Given the description of an element on the screen output the (x, y) to click on. 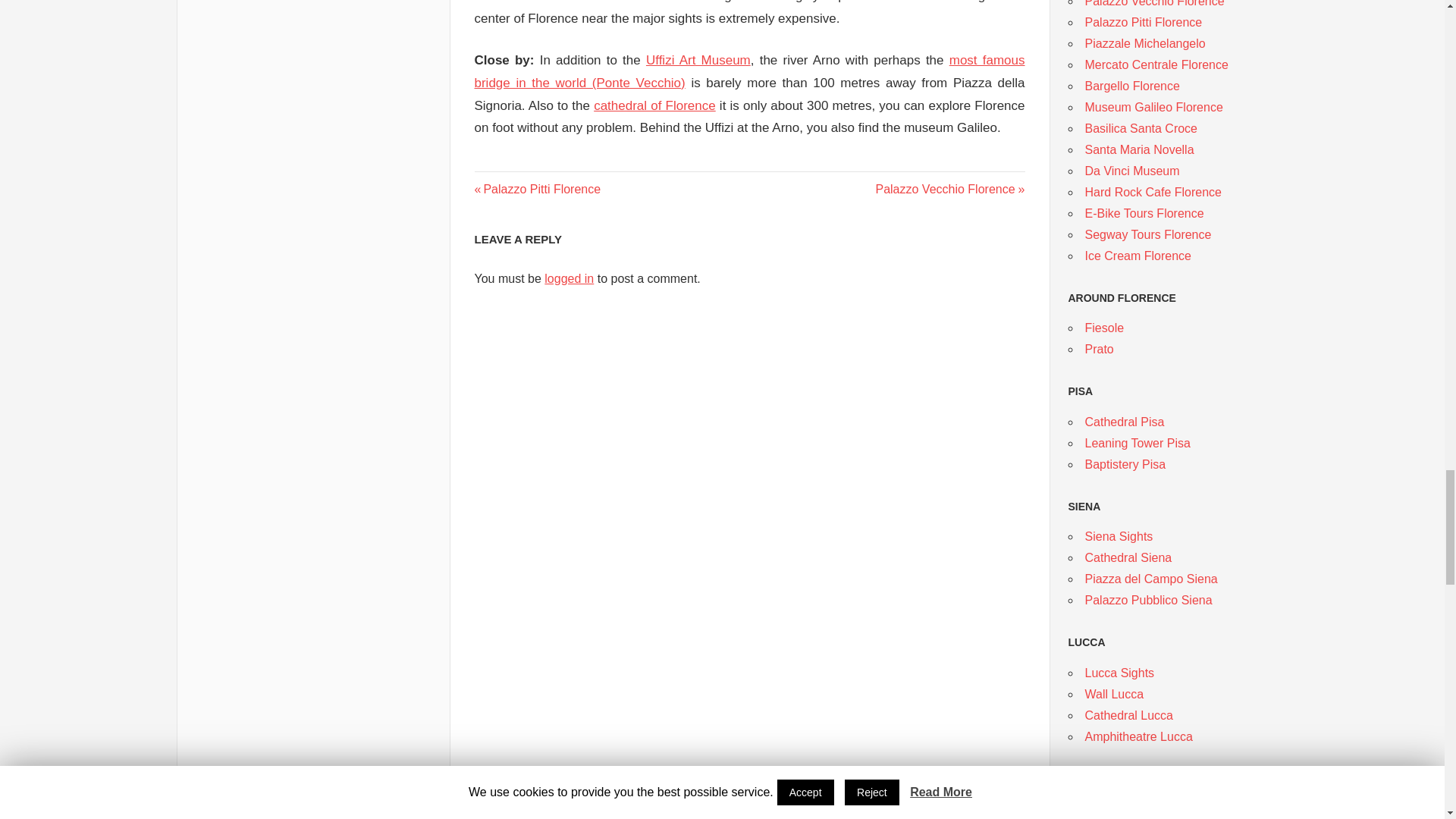
cathedral of Florence (655, 105)
logged in (950, 188)
Uffizi Art Museum (537, 188)
